Given the description of an element on the screen output the (x, y) to click on. 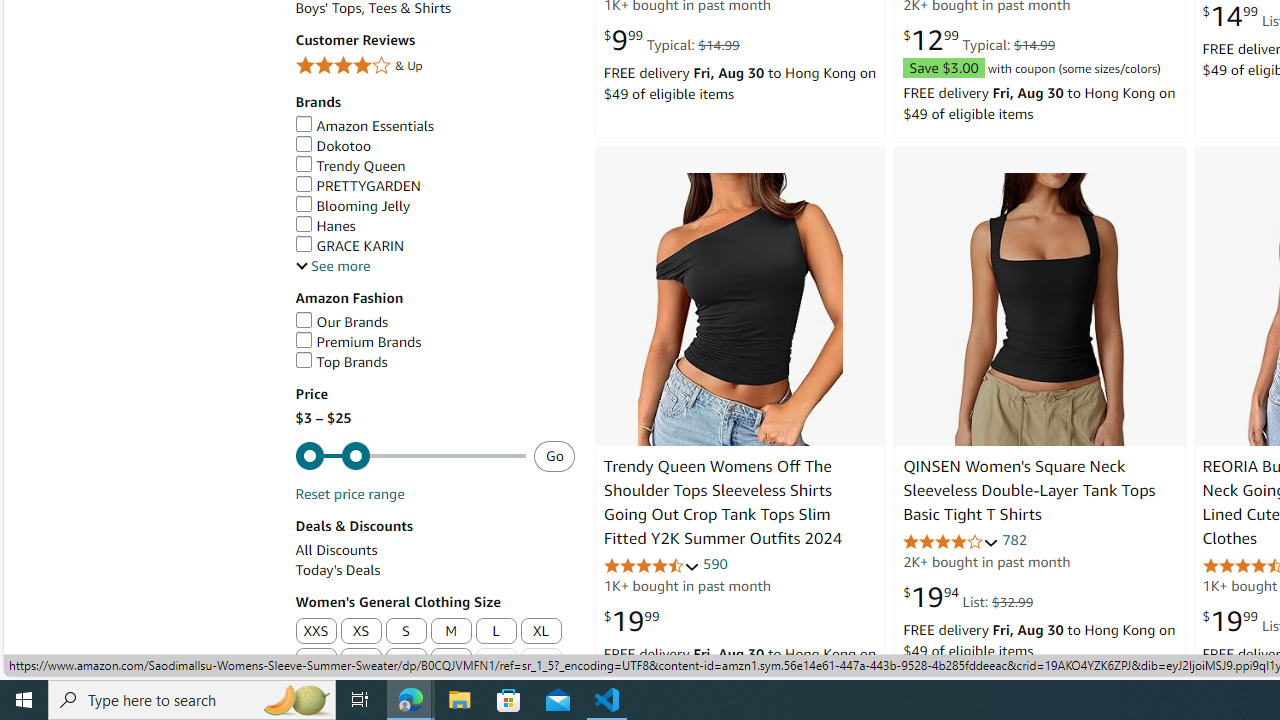
Blooming Jelly (434, 206)
3XL (360, 662)
L (496, 632)
4 Stars & Up& Up (434, 67)
GRACE KARIN (434, 246)
See more, Brands (332, 266)
Today's Deals (434, 570)
XL (541, 632)
PRETTYGARDEN (434, 186)
Reset price range (349, 494)
Amazon Essentials (363, 125)
XS (360, 631)
XXL (316, 662)
Amazon Essentials (434, 126)
